Given the description of an element on the screen output the (x, y) to click on. 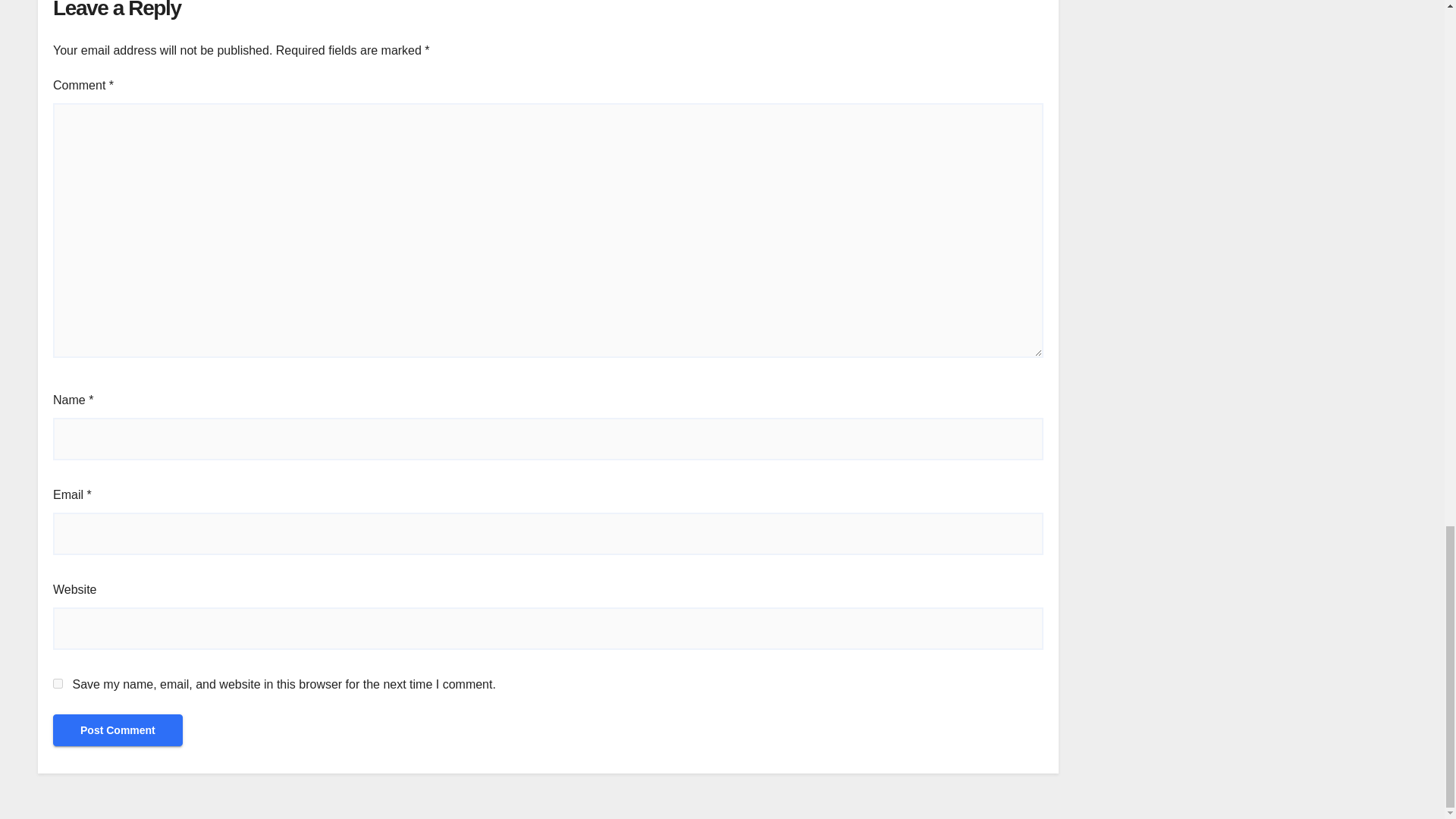
yes (57, 683)
Post Comment (117, 730)
